Given the description of an element on the screen output the (x, y) to click on. 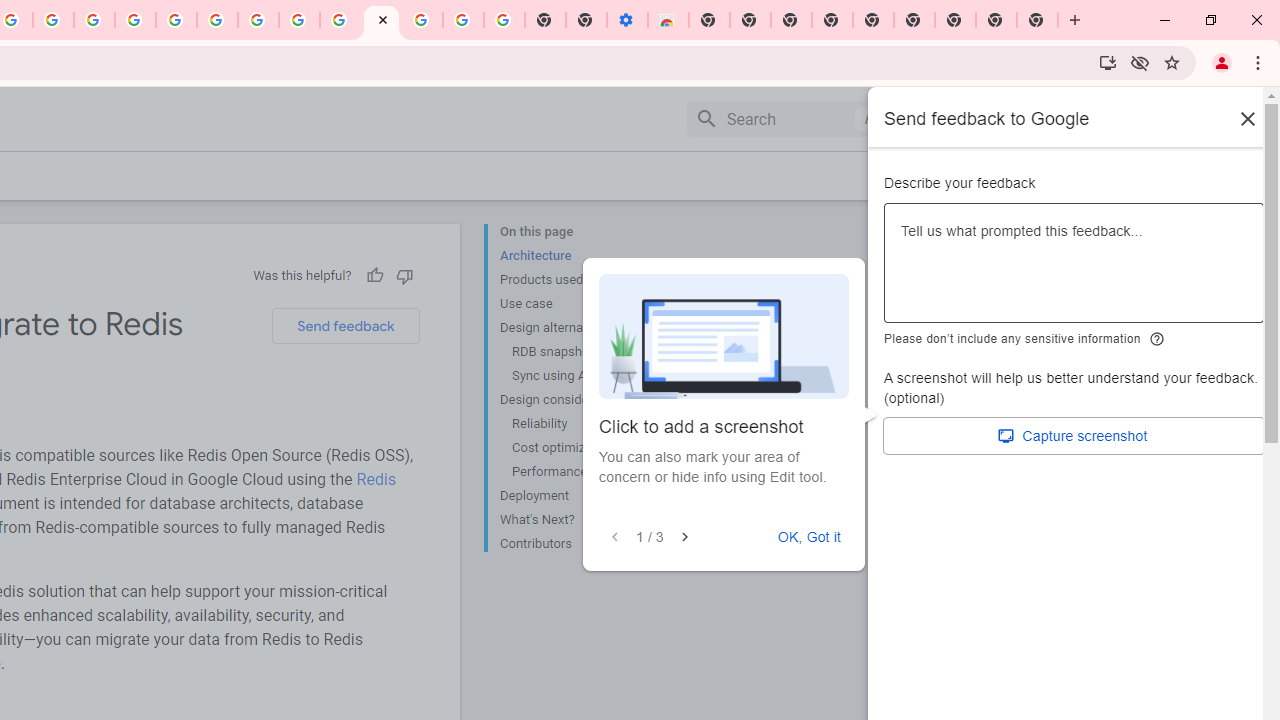
Google Account Help (462, 20)
Start free (1182, 175)
Sync using Active-Passive (585, 376)
Previous (615, 537)
Chrome Web Store - Accessibility extensions (667, 20)
Install Google Cloud (1107, 62)
Capture screenshot (1074, 436)
Next (684, 537)
Design alternatives (580, 327)
Describe your feedback (1074, 271)
Send feedback (345, 326)
